Given the description of an element on the screen output the (x, y) to click on. 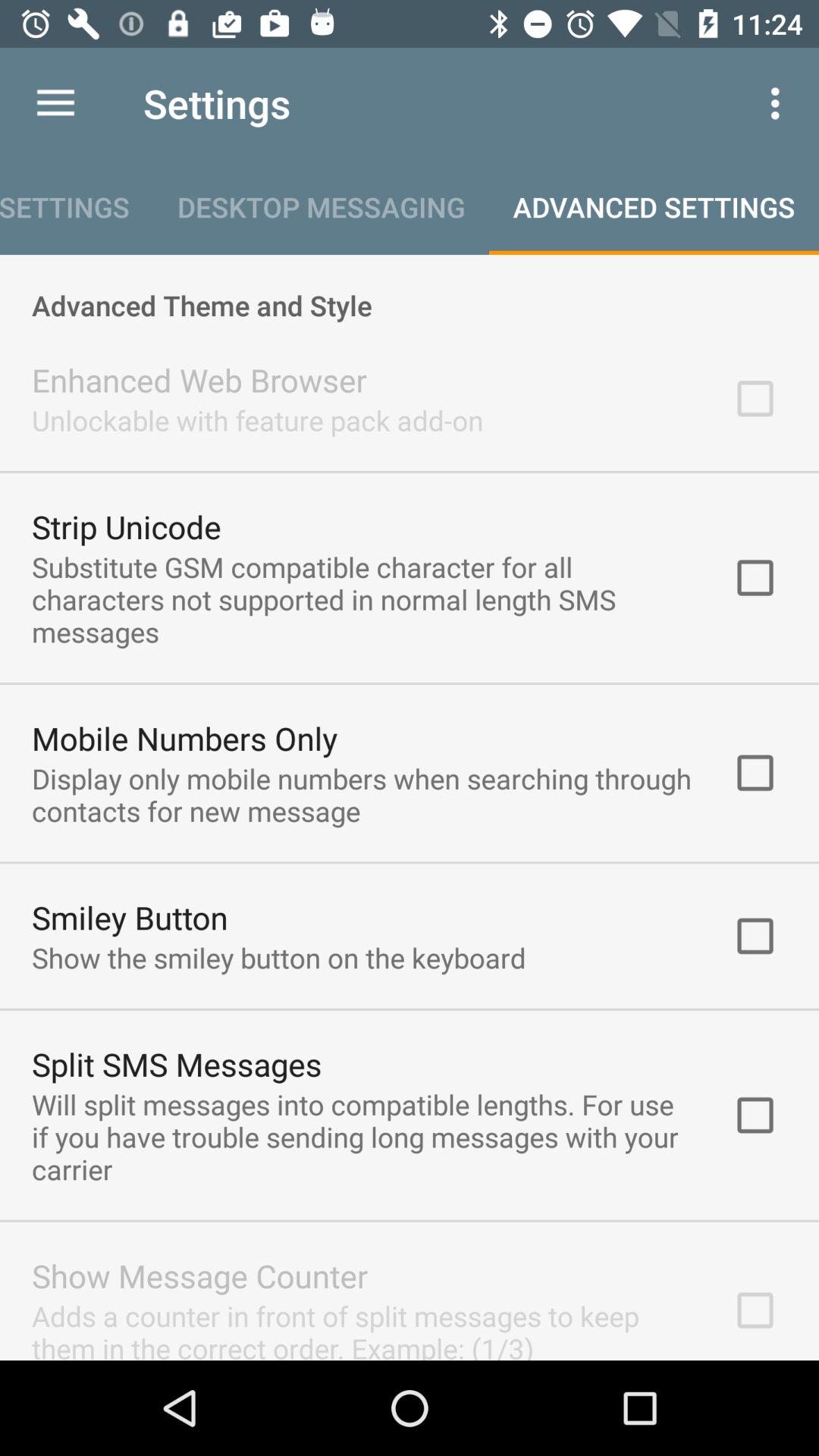
turn on the icon below the smiley button icon (278, 957)
